Given the description of an element on the screen output the (x, y) to click on. 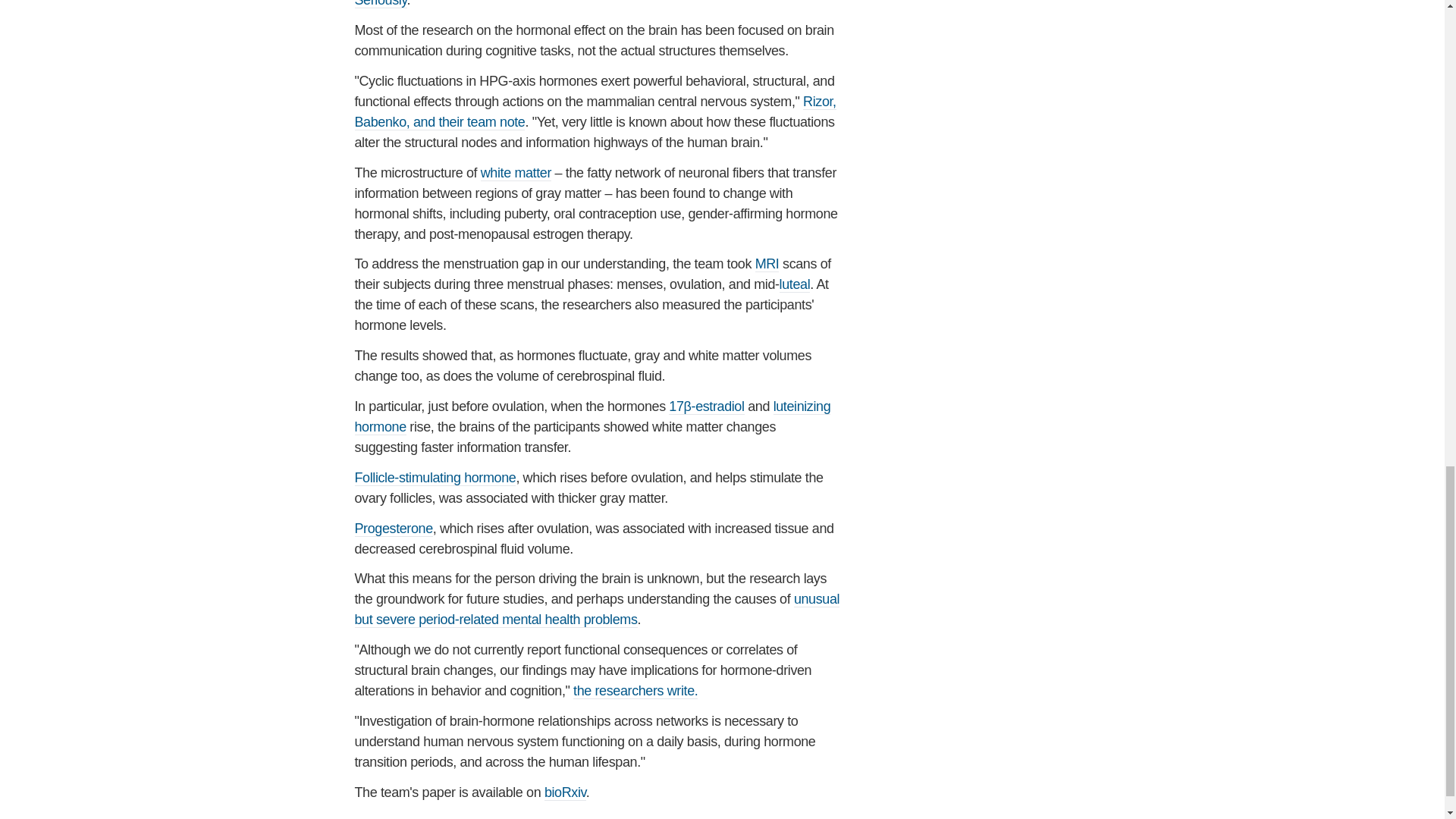
Rizor, Babenko, and their team note (595, 112)
white matter (515, 172)
Seriously (381, 4)
MRI (766, 263)
